Given the description of an element on the screen output the (x, y) to click on. 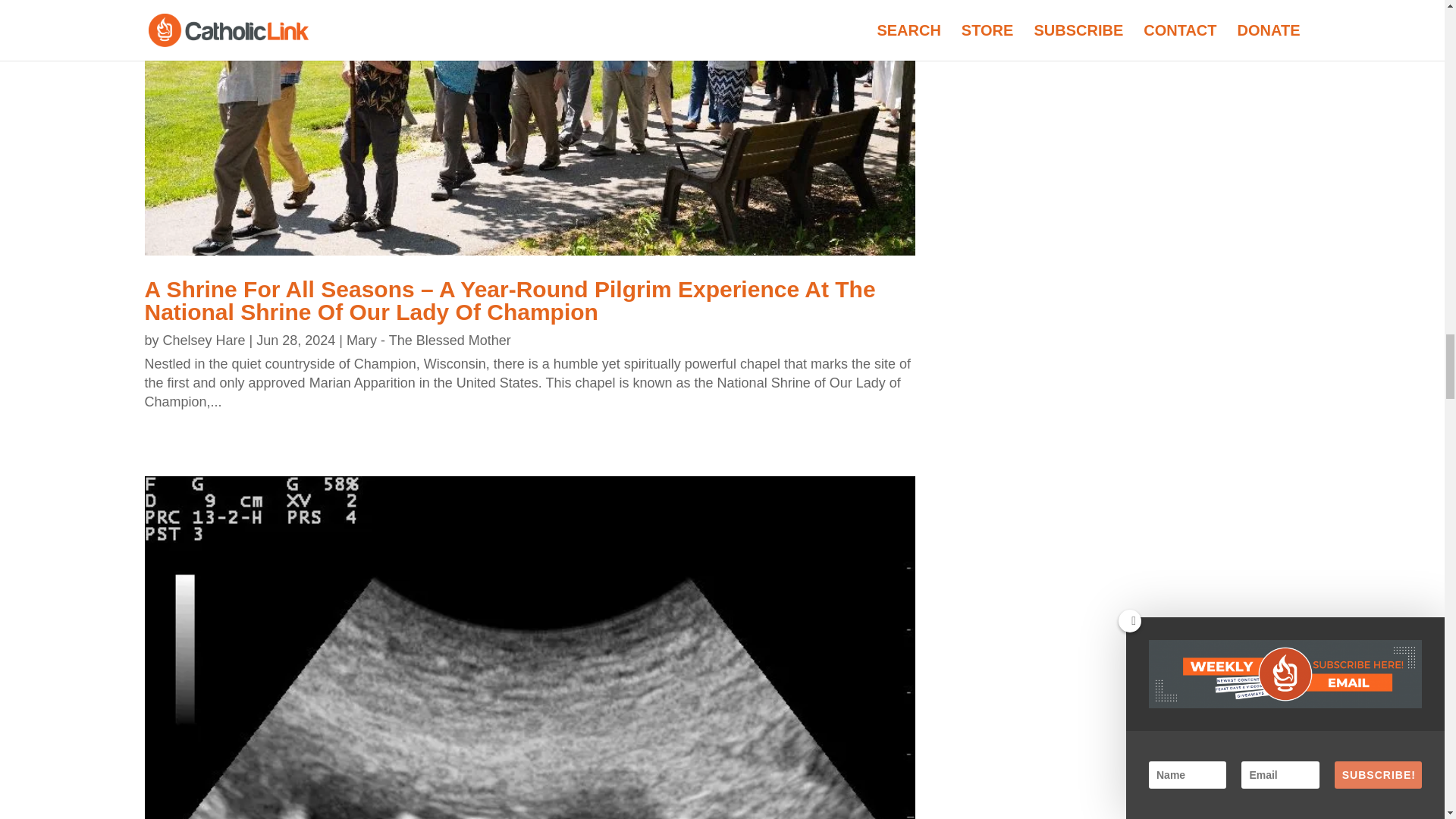
Mary - The Blessed Mother (428, 340)
Posts by Chelsey Hare (204, 340)
Chelsey Hare (204, 340)
